Given the description of an element on the screen output the (x, y) to click on. 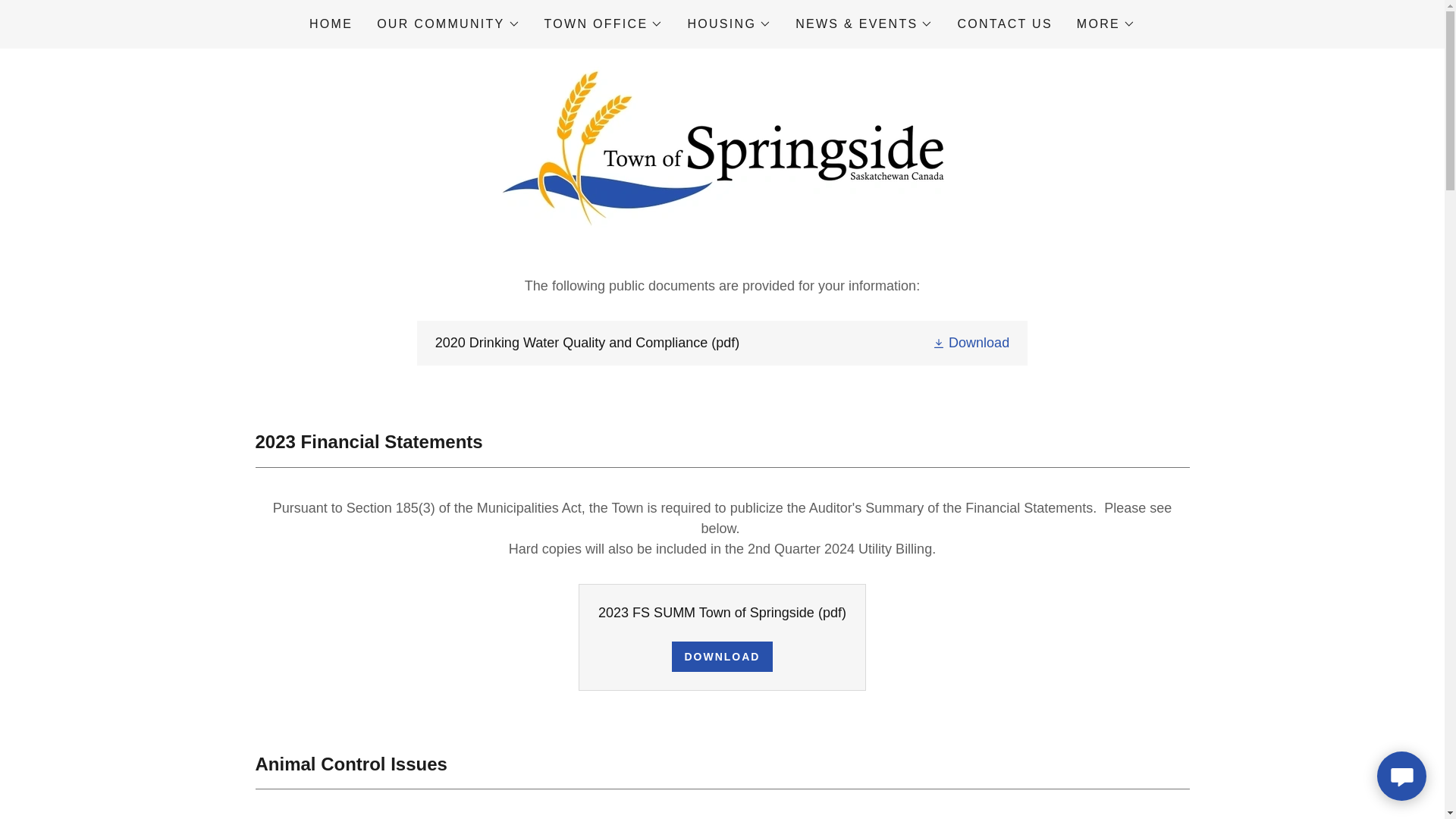
HOUSING (729, 24)
OUR COMMUNITY (448, 24)
HOME (330, 23)
TOWN OFFICE (603, 24)
MORE (1106, 24)
CONTACT US (1004, 23)
